Given the description of an element on the screen output the (x, y) to click on. 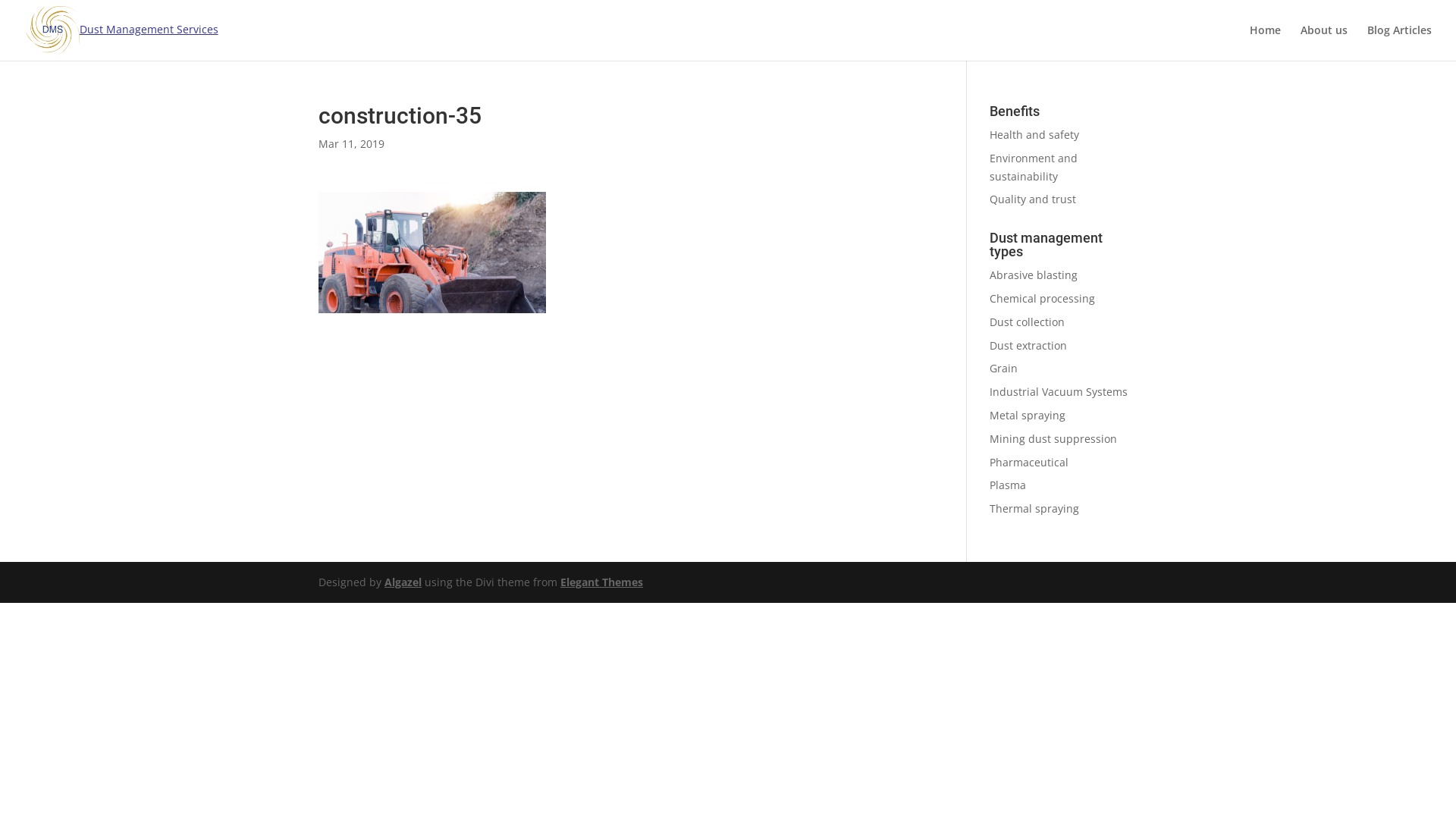
Pharmaceutical Element type: text (1028, 462)
Health and safety Element type: text (1034, 134)
Dust extraction Element type: text (1027, 345)
Blog Articles Element type: text (1399, 42)
Algazel Element type: text (402, 581)
Dust Management Services Element type: text (121, 28)
Mining dust suppression Element type: text (1053, 438)
Metal spraying Element type: text (1027, 414)
Thermal spraying Element type: text (1034, 508)
Abrasive blasting Element type: text (1033, 274)
Plasma Element type: text (1007, 484)
Dust collection Element type: text (1026, 321)
Elegant Themes Element type: text (601, 581)
Quality and trust Element type: text (1032, 198)
Chemical processing Element type: text (1042, 298)
Industrial Vacuum Systems Element type: text (1058, 391)
Home Element type: text (1264, 42)
Environment and sustainability Element type: text (1033, 166)
About us Element type: text (1323, 42)
Grain Element type: text (1003, 367)
